Given the description of an element on the screen output the (x, y) to click on. 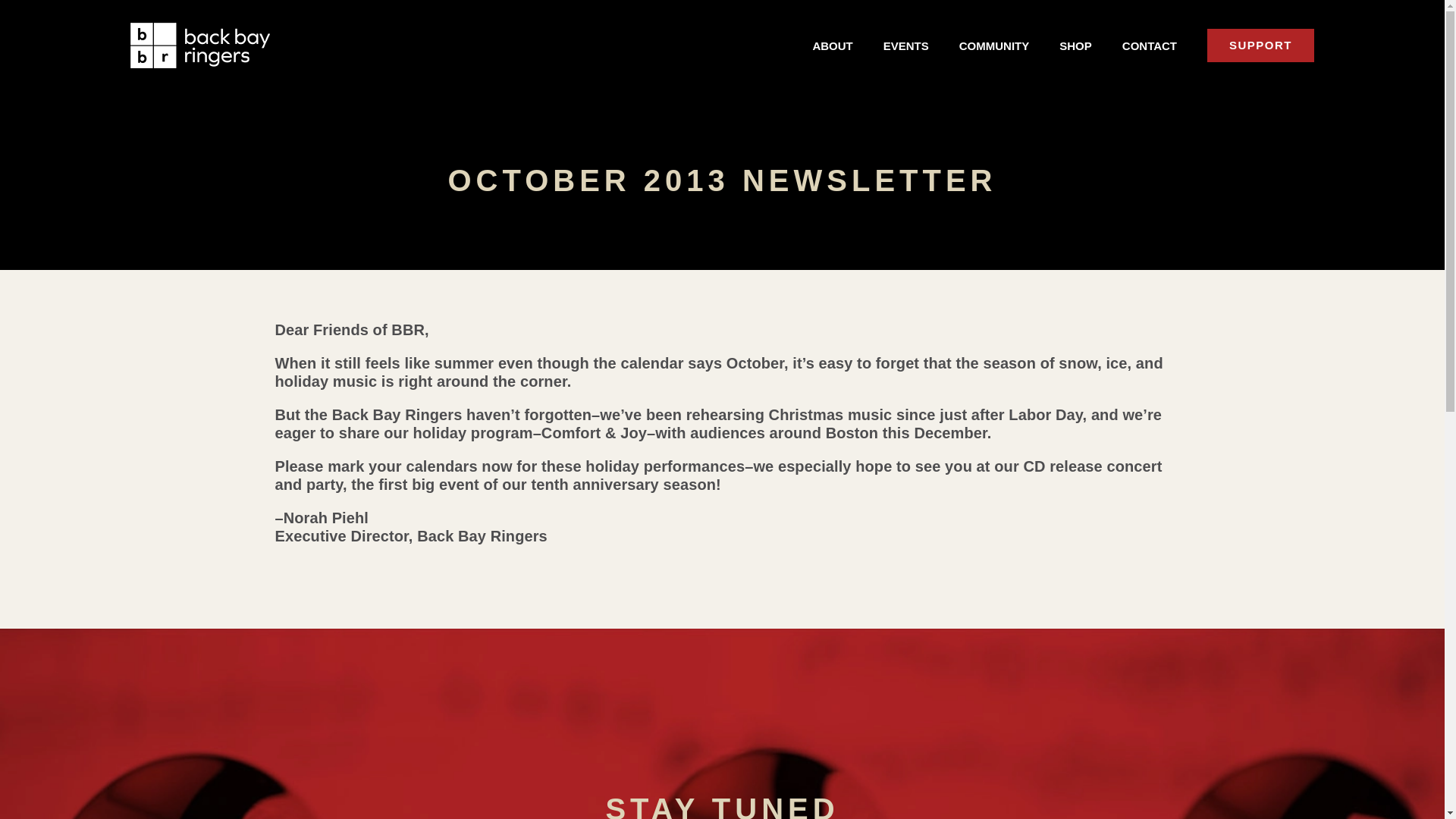
SUPPORT (1260, 45)
CONTACT (1149, 45)
ABOUT (831, 45)
EVENTS (905, 45)
SHOP (1075, 45)
COMMUNITY (994, 45)
